Given the description of an element on the screen output the (x, y) to click on. 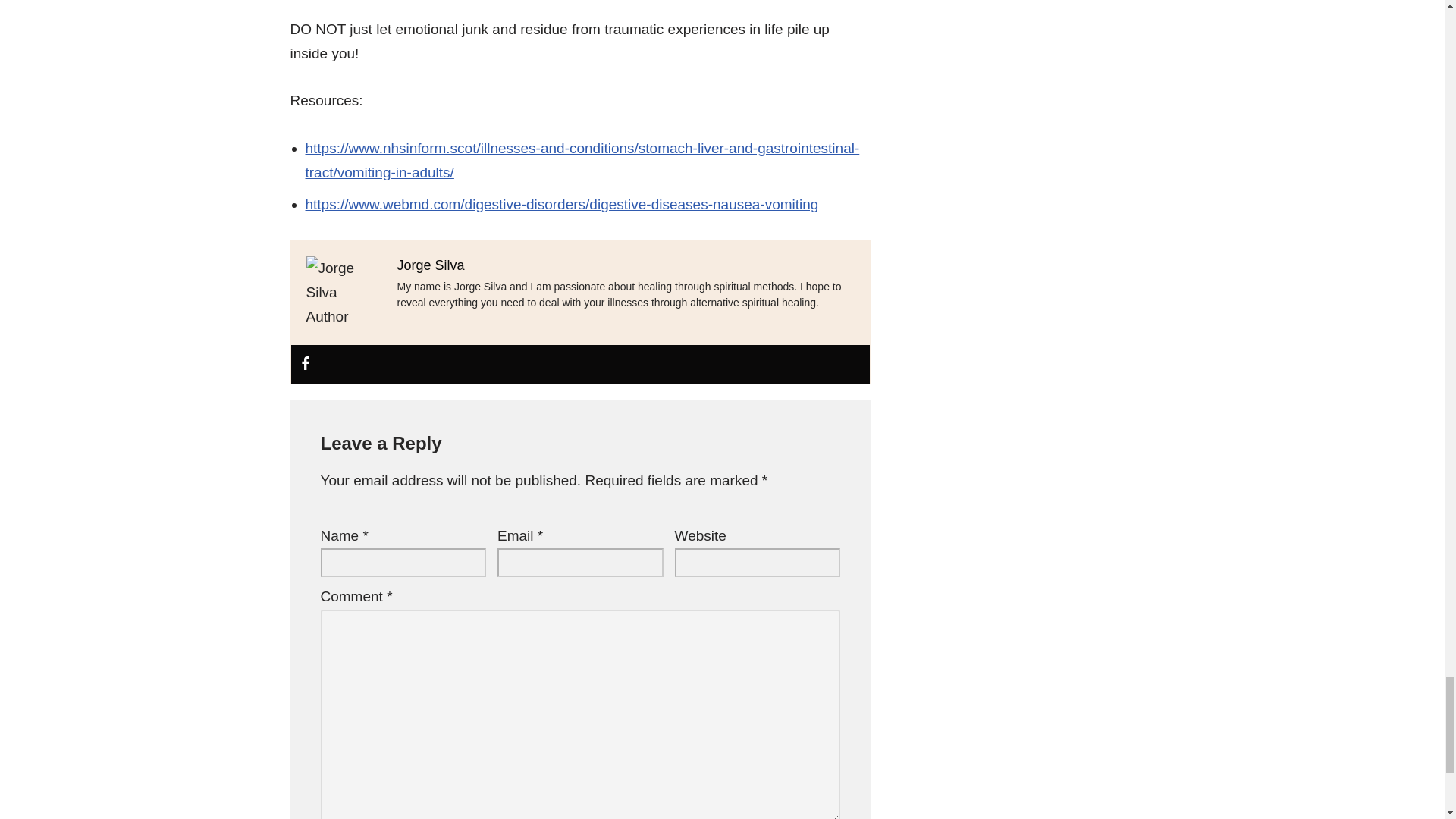
Jorge Silva (430, 264)
